Given the description of an element on the screen output the (x, y) to click on. 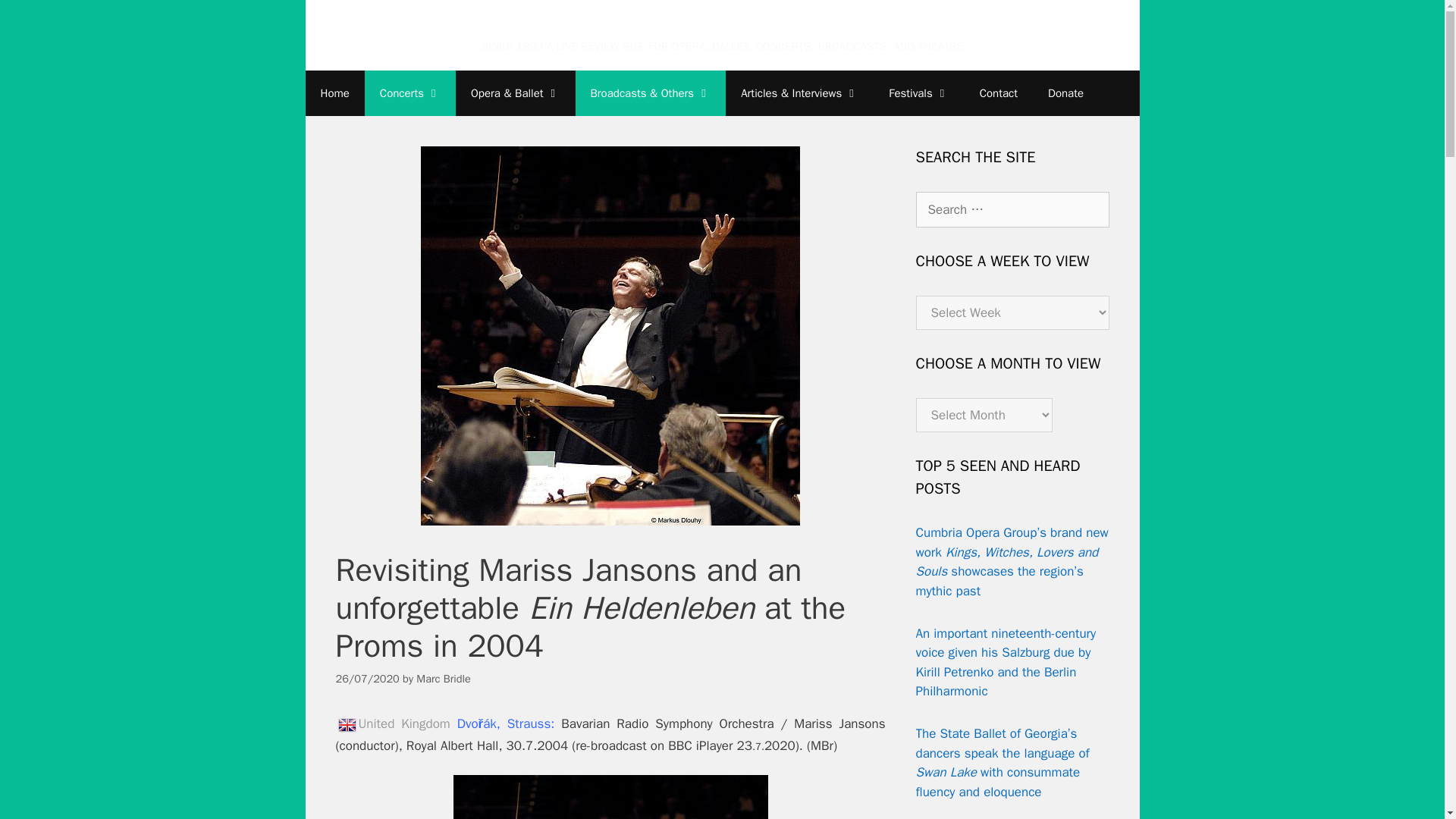
Season Previews (799, 92)
United Kingdom (346, 724)
Seen and Heard International (722, 25)
Search for: (1012, 208)
View all posts by Marc Bridle (443, 678)
